Given the description of an element on the screen output the (x, y) to click on. 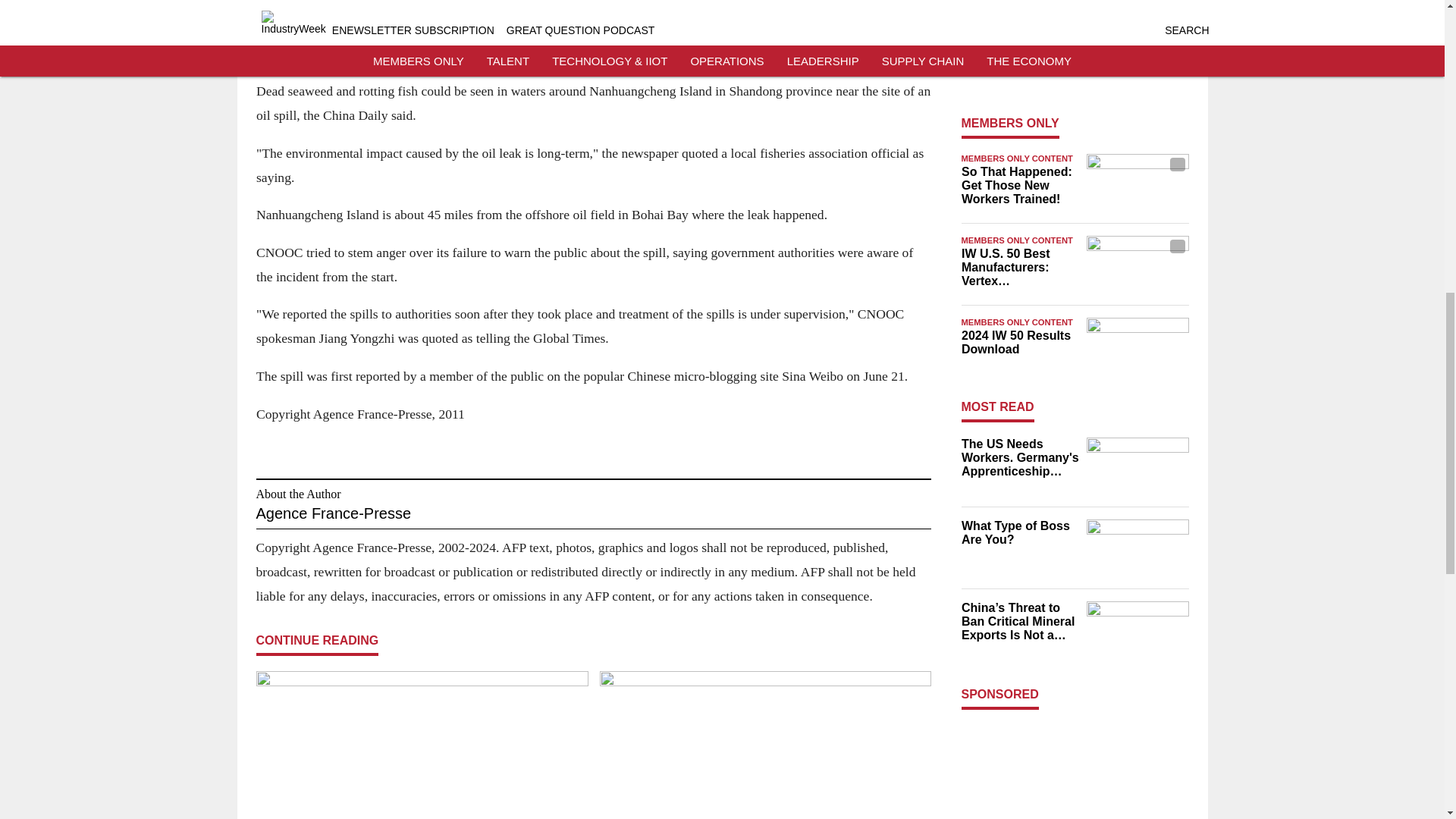
So That Happened: Get Those New Workers Trained! (1019, 185)
2024 IW 50 Results Download (1019, 342)
MEMBERS ONLY (1009, 123)
